Given the description of an element on the screen output the (x, y) to click on. 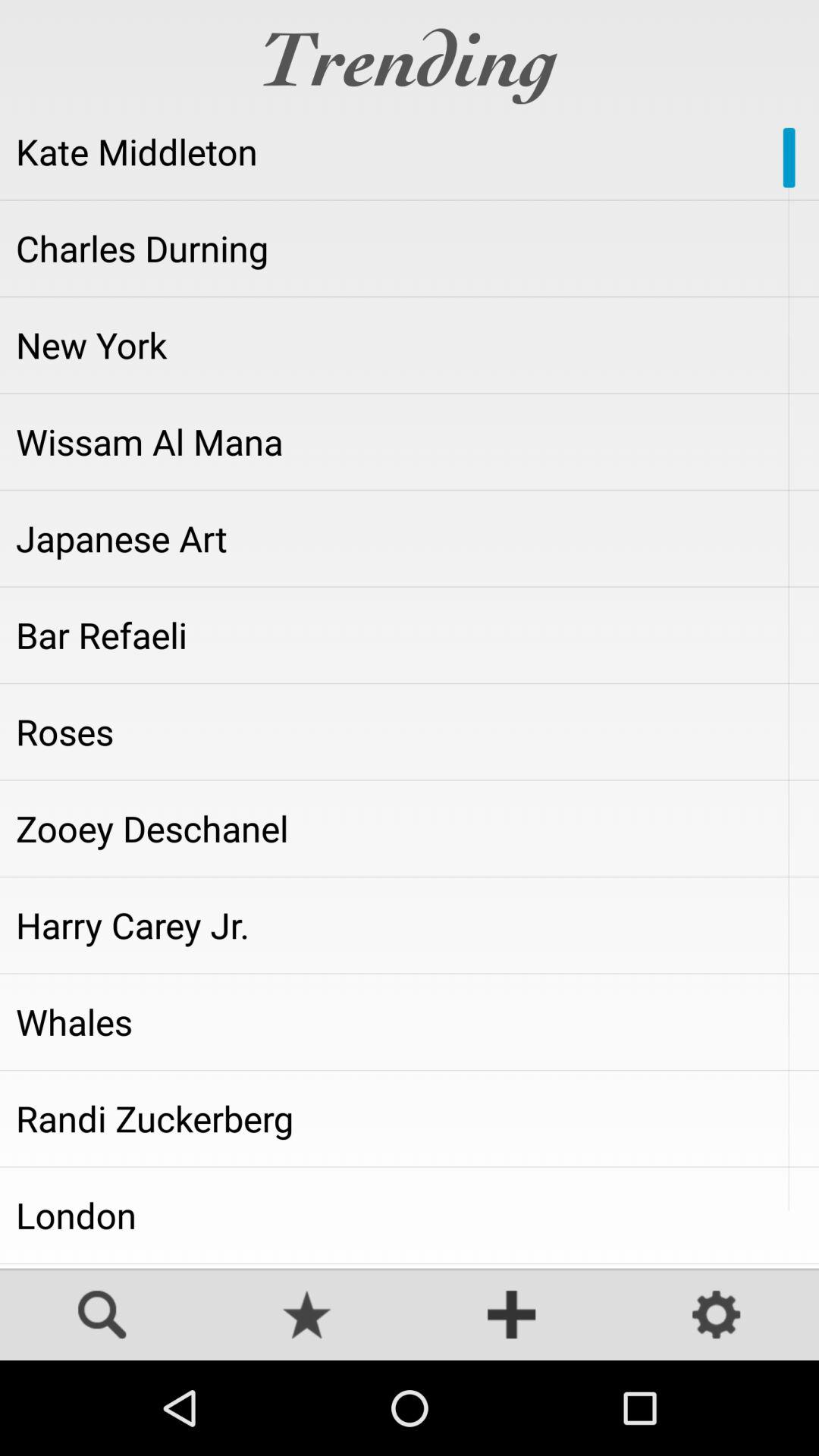
settings (716, 1316)
